Given the description of an element on the screen output the (x, y) to click on. 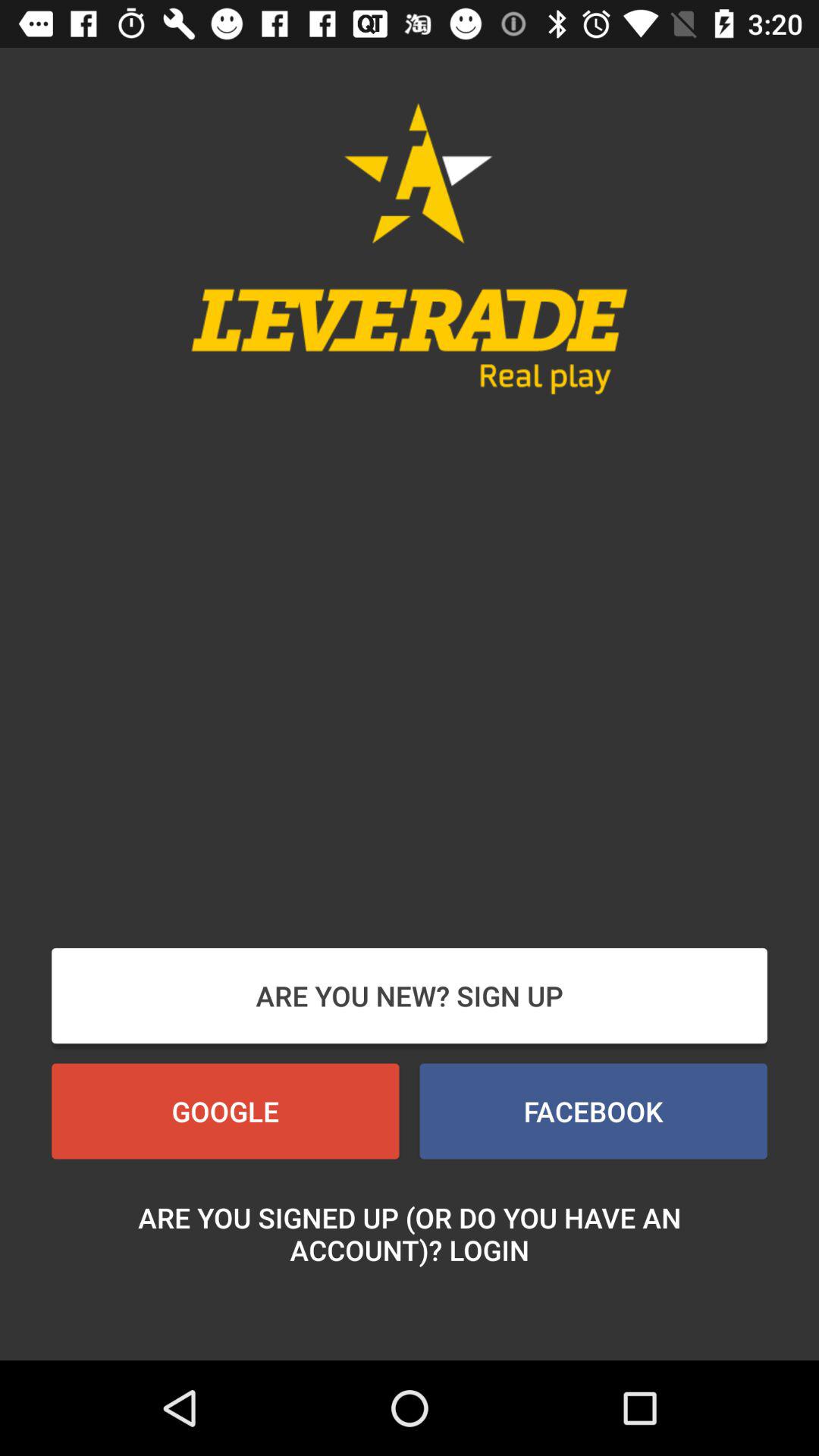
click the button above are you signed icon (225, 1111)
